Given the description of an element on the screen output the (x, y) to click on. 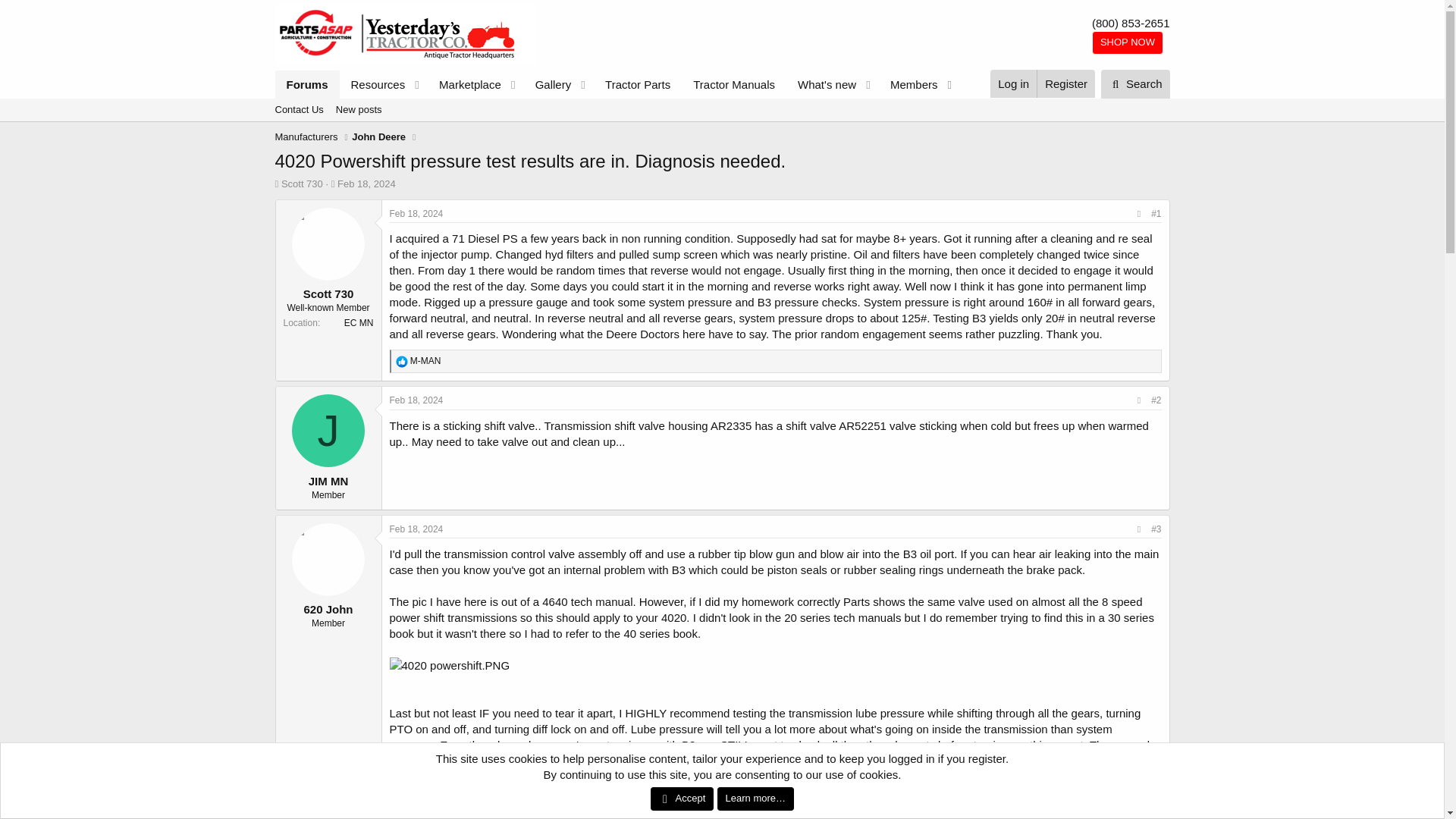
Feb 18, 2024 at 11:21 PM (1136, 809)
Gallery (548, 84)
Marketplace (720, 126)
SHOP NOW (465, 84)
Resources (1127, 42)
What's new (373, 84)
Forums (821, 84)
4020 powershift.PNG (307, 84)
